Given the description of an element on the screen output the (x, y) to click on. 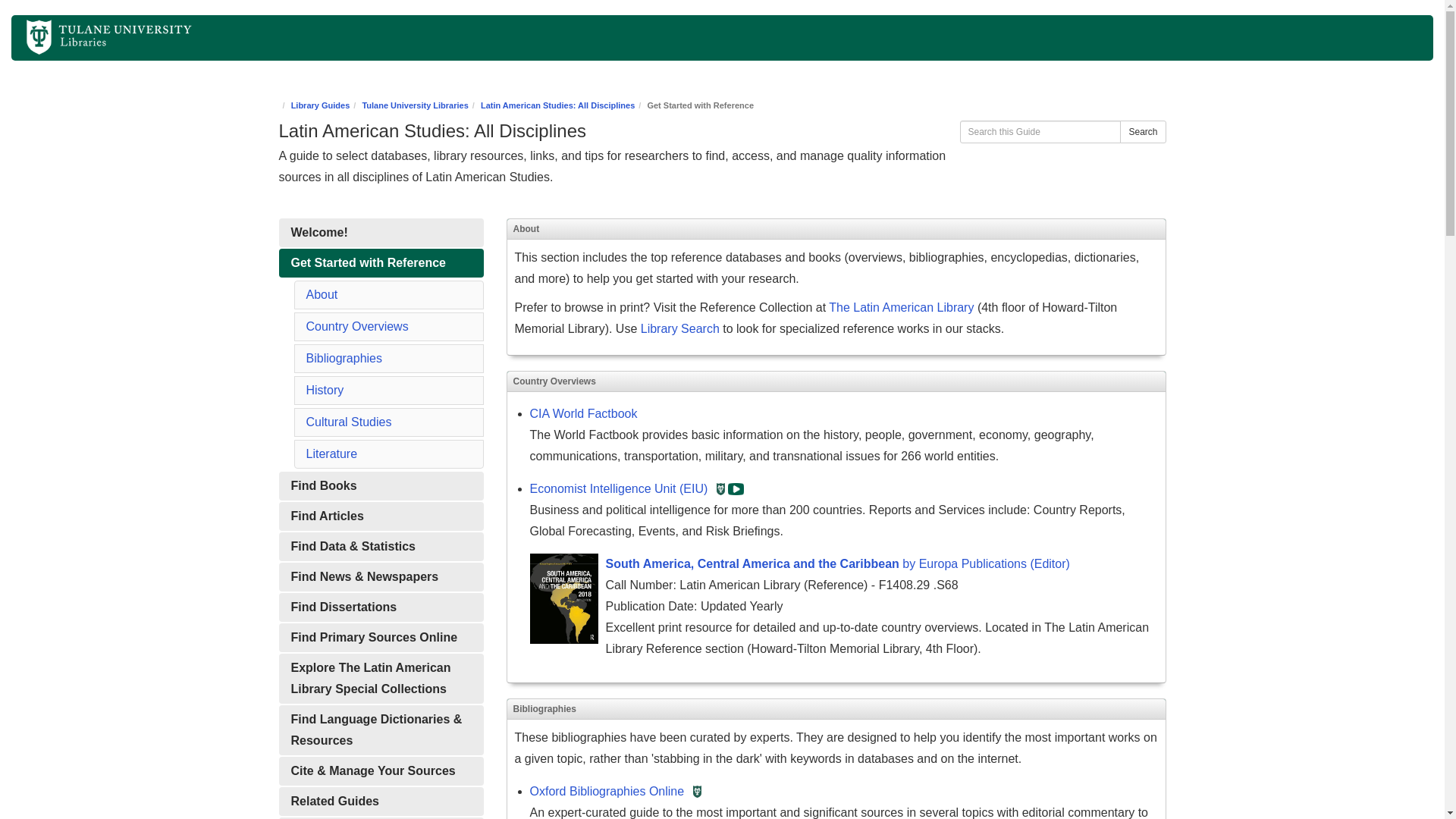
About (321, 294)
The Latin American Library (901, 307)
Tulane University Libraries (414, 104)
Find Articles (381, 516)
Library Search (679, 328)
Home (87, 34)
Search (1142, 131)
Literature (331, 453)
Get Started with Reference (381, 262)
Find Primary Sources Online (381, 637)
Welcome! (381, 232)
Cultural Studies (348, 421)
